Given the description of an element on the screen output the (x, y) to click on. 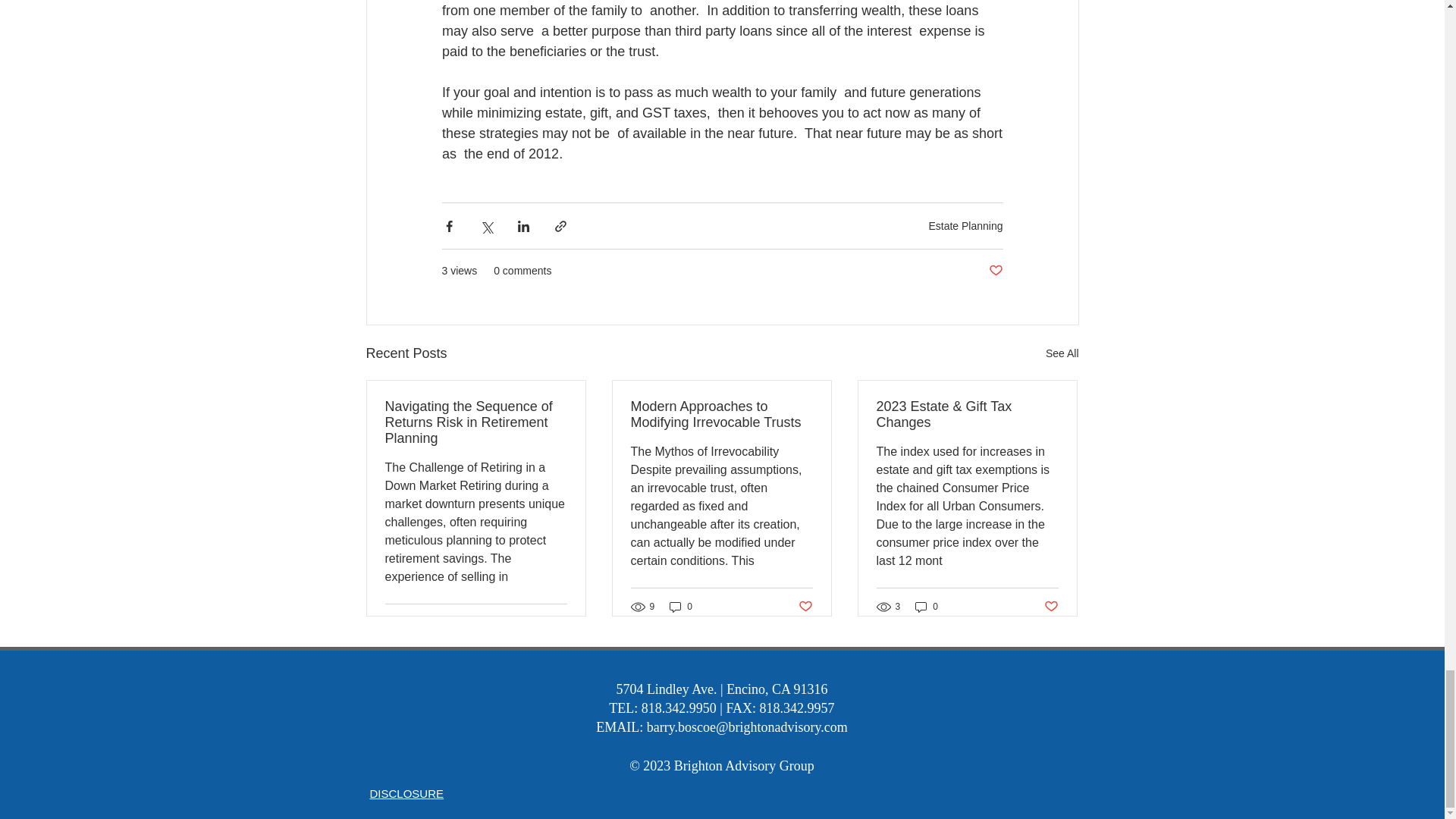
Modern Approaches to Modifying Irrevocable Trusts (721, 414)
Estate Planning (965, 224)
Post not marked as liked (558, 622)
Post not marked as liked (995, 270)
See All (1061, 353)
